Given the description of an element on the screen output the (x, y) to click on. 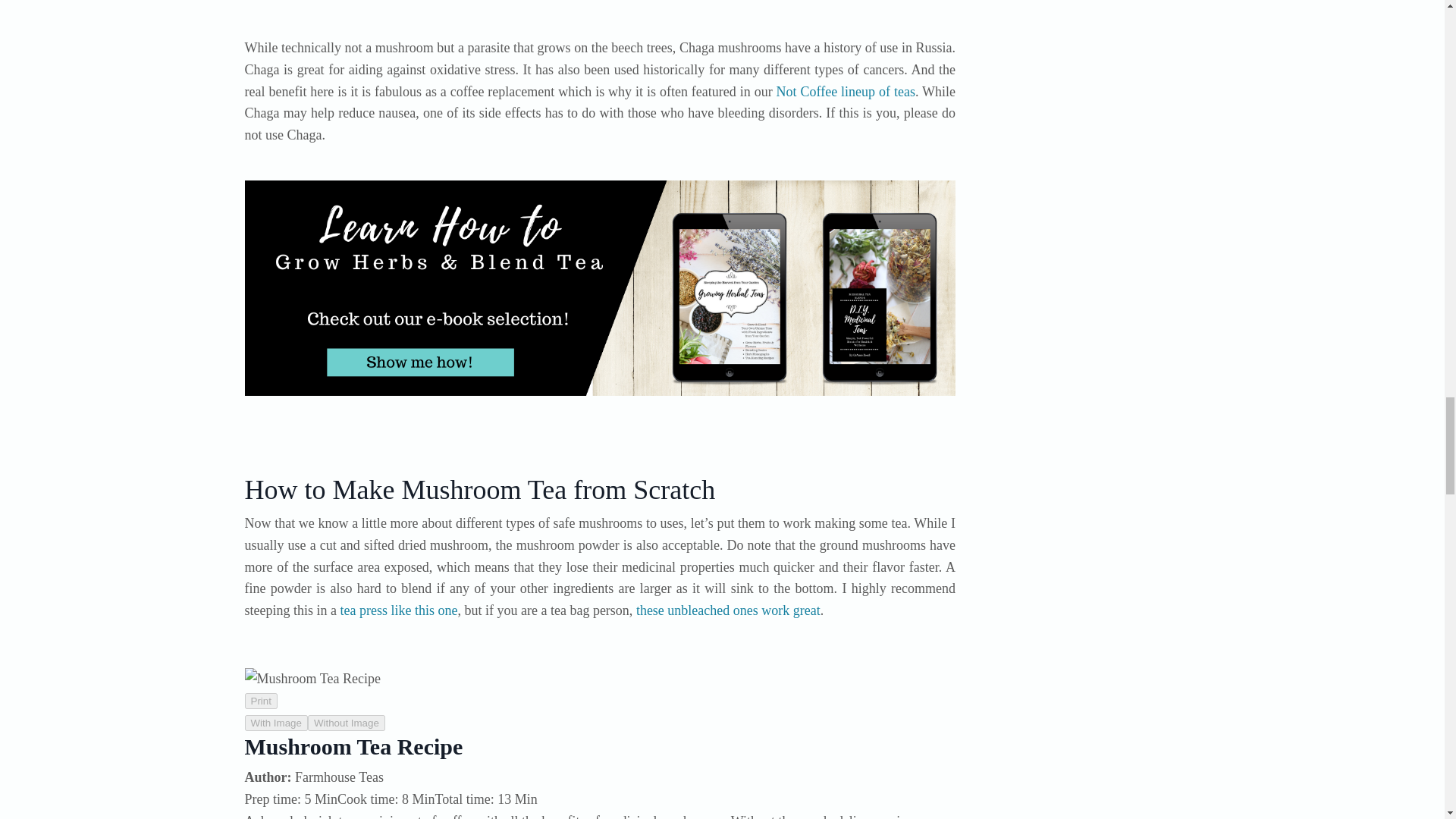
Mushroom Tea Recipe (599, 679)
